Given the description of an element on the screen output the (x, y) to click on. 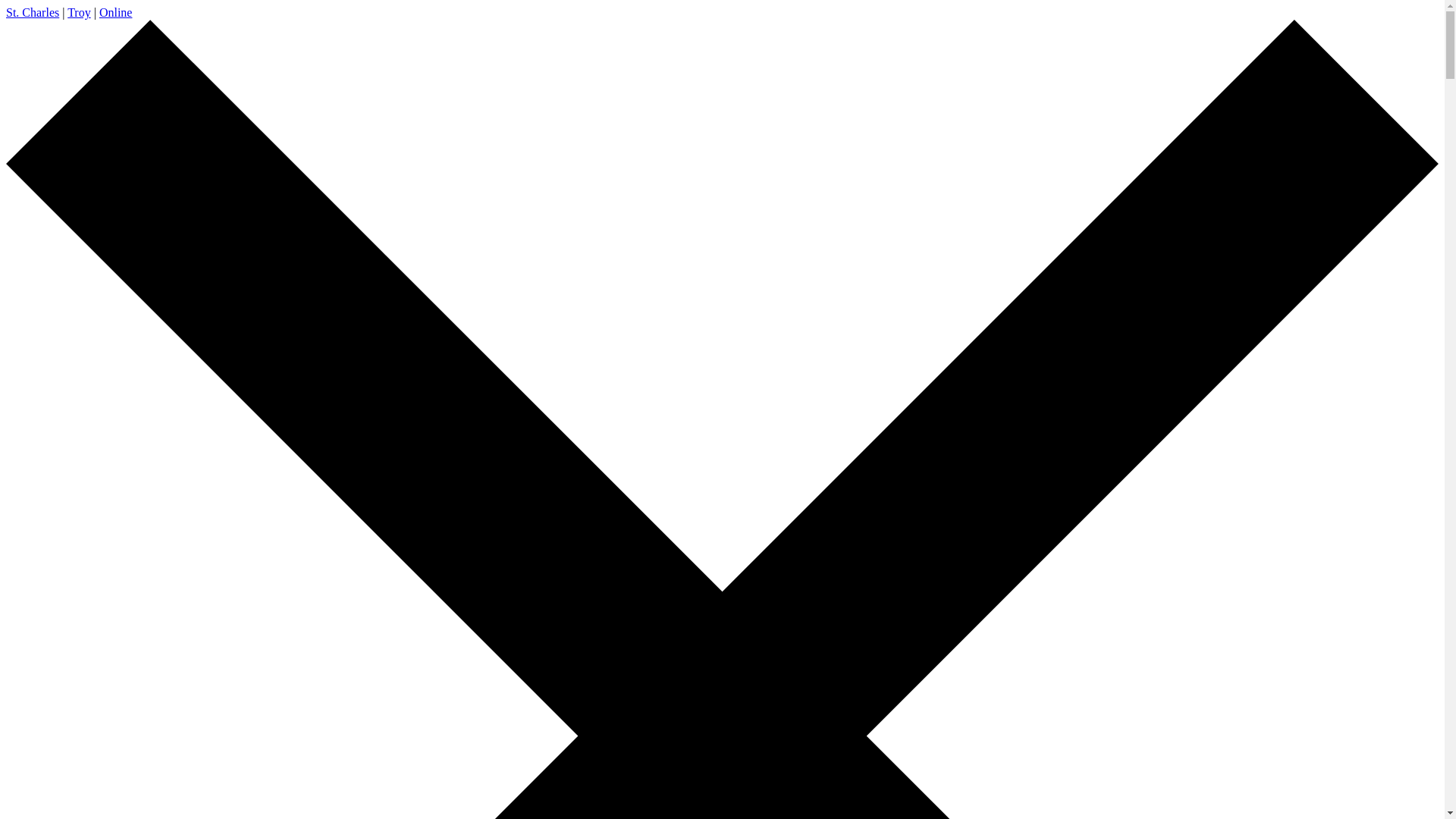
Online Element type: text (115, 12)
St. Charles Element type: text (32, 12)
Troy Element type: text (79, 12)
